Given the description of an element on the screen output the (x, y) to click on. 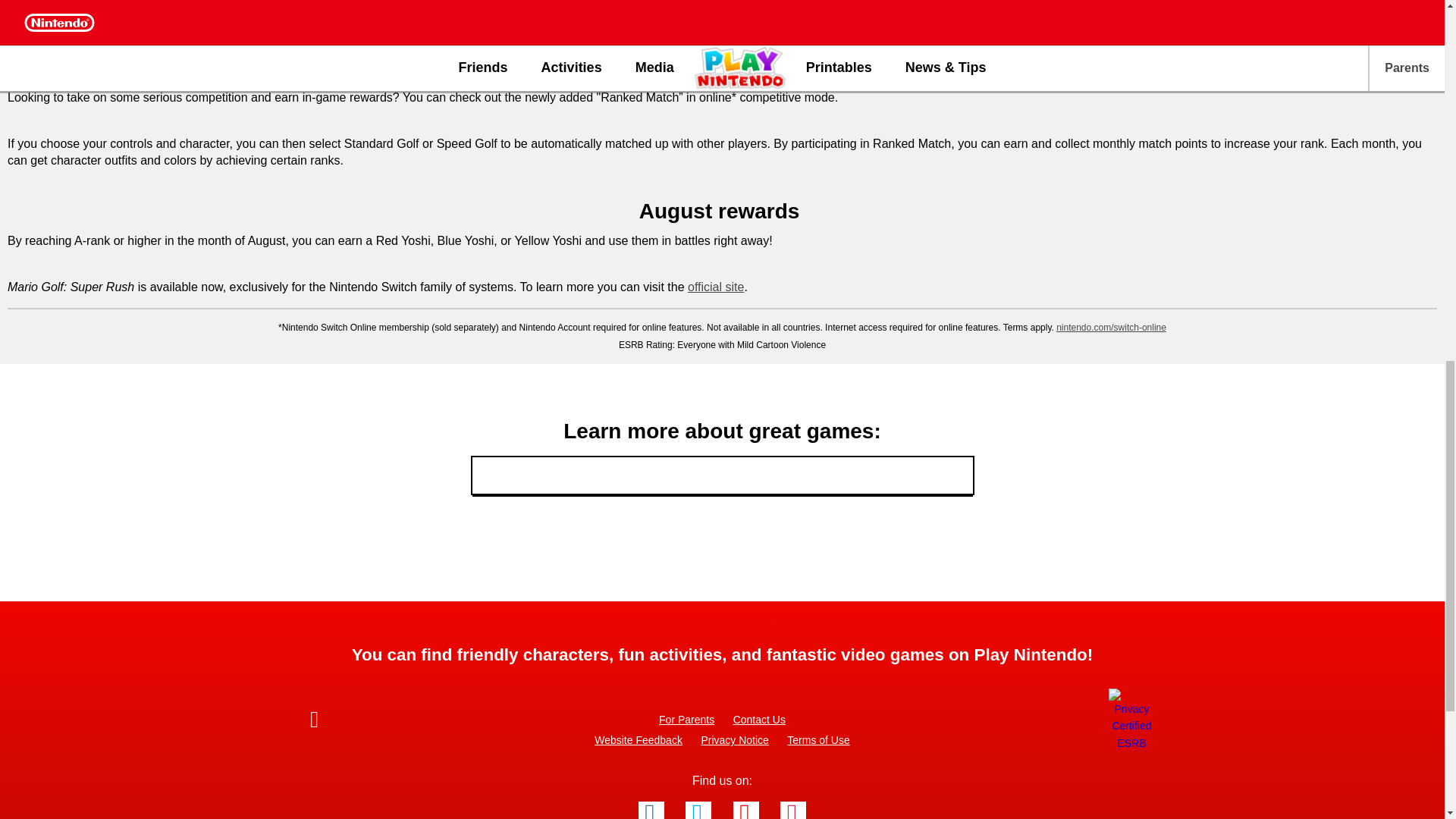
Website Feedback (638, 740)
Facebook (651, 810)
Privacy Notice (734, 740)
For Parents (686, 719)
Twitter (698, 810)
YouTube (745, 810)
Contact Us (759, 719)
Nintendo (355, 722)
Terms of Use (817, 740)
Instagram (793, 810)
